Given the description of an element on the screen output the (x, y) to click on. 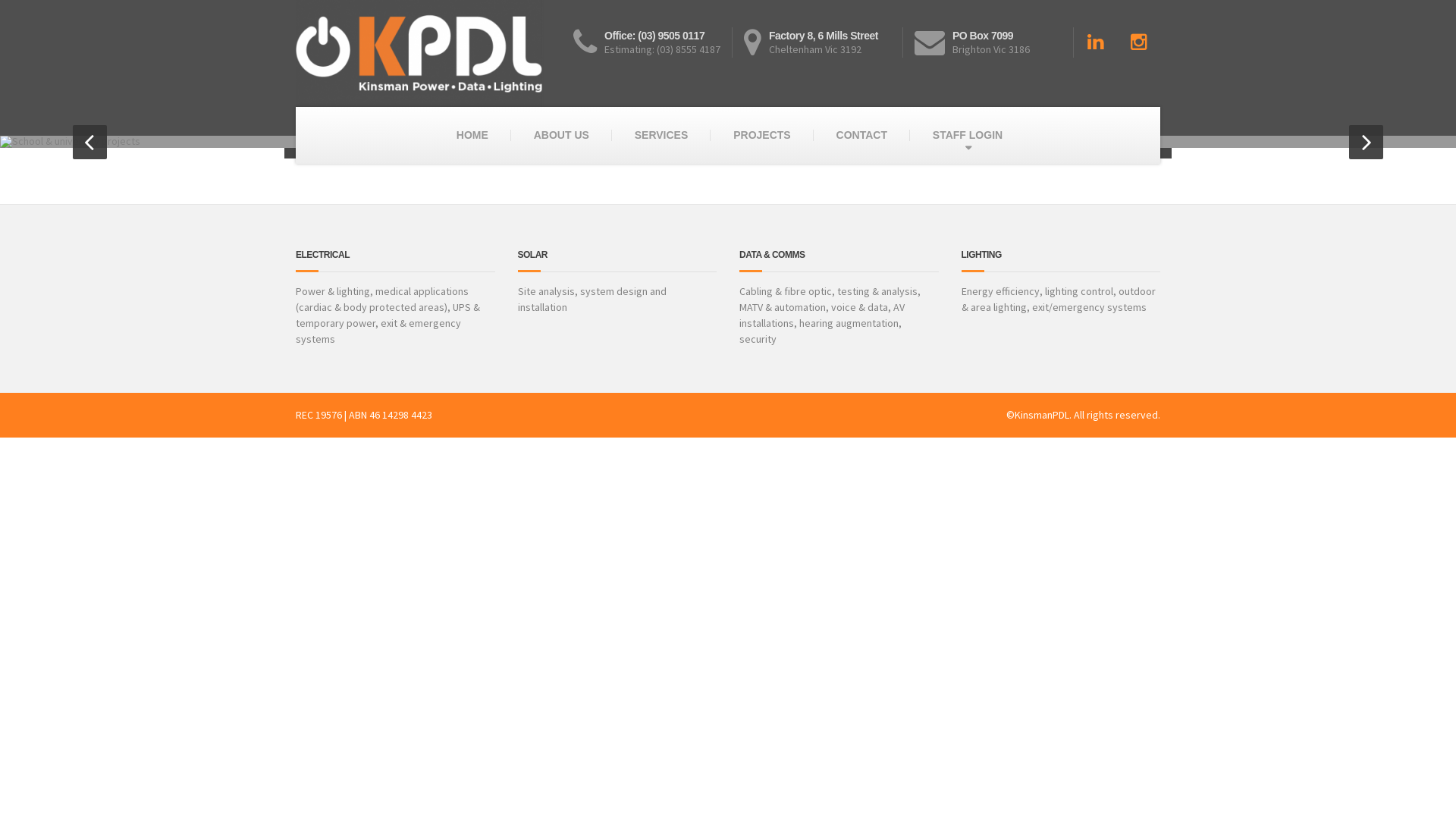
STAFF LOGIN Element type: text (967, 134)
Factory 8, 6 Mills Street
Cheltenham Vic 3192 Element type: text (823, 42)
ABOUT US Element type: text (561, 134)
CONTACT Element type: text (861, 134)
PROJECTS Element type: text (761, 134)
SERVICES Element type: text (661, 134)
HOME Element type: text (472, 134)
